Given the description of an element on the screen output the (x, y) to click on. 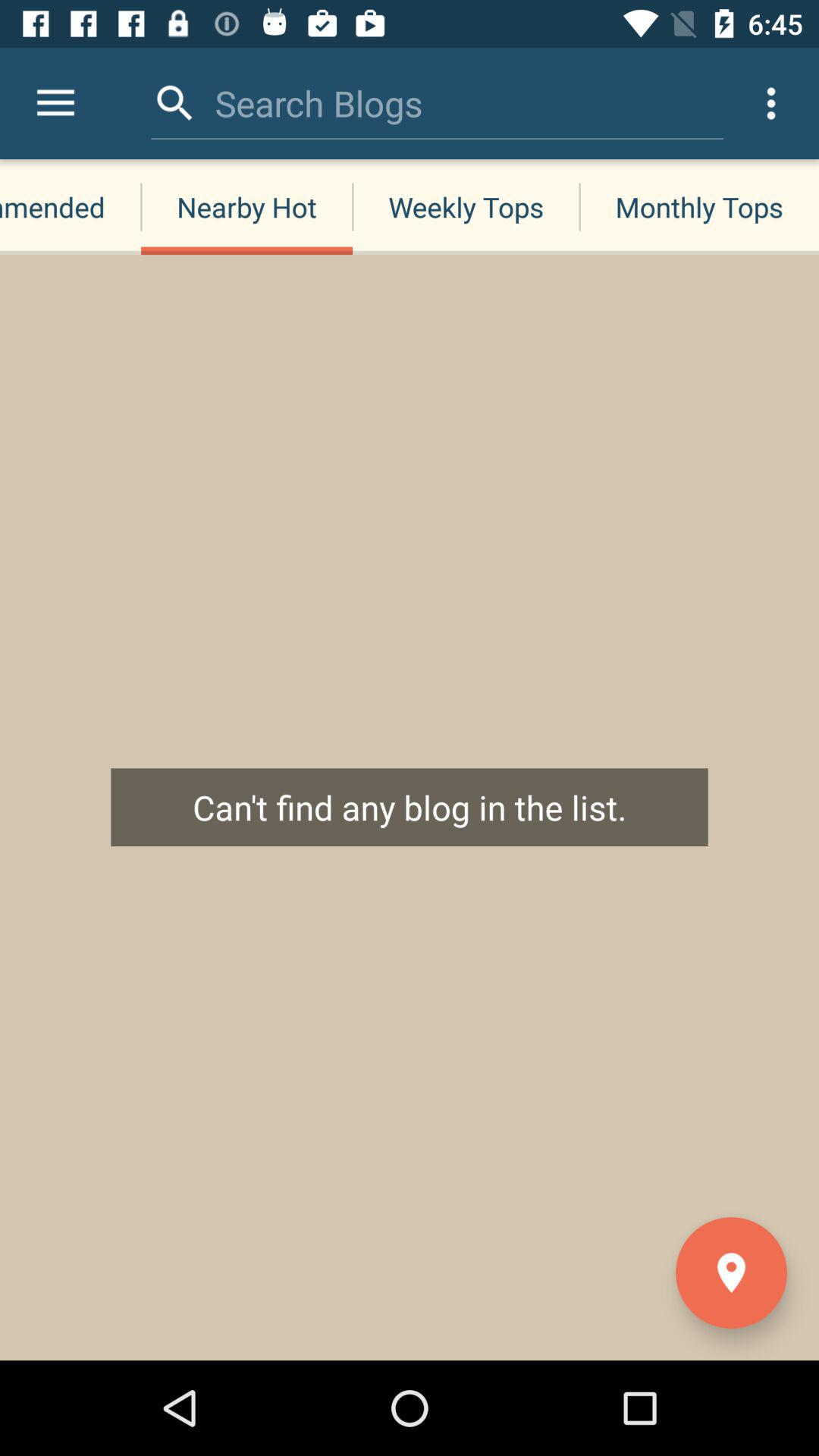
select nearby hot (246, 206)
click on the monthly tops (699, 206)
select the text search blogs (318, 103)
click on the top right corner icon (771, 103)
